Given the description of an element on the screen output the (x, y) to click on. 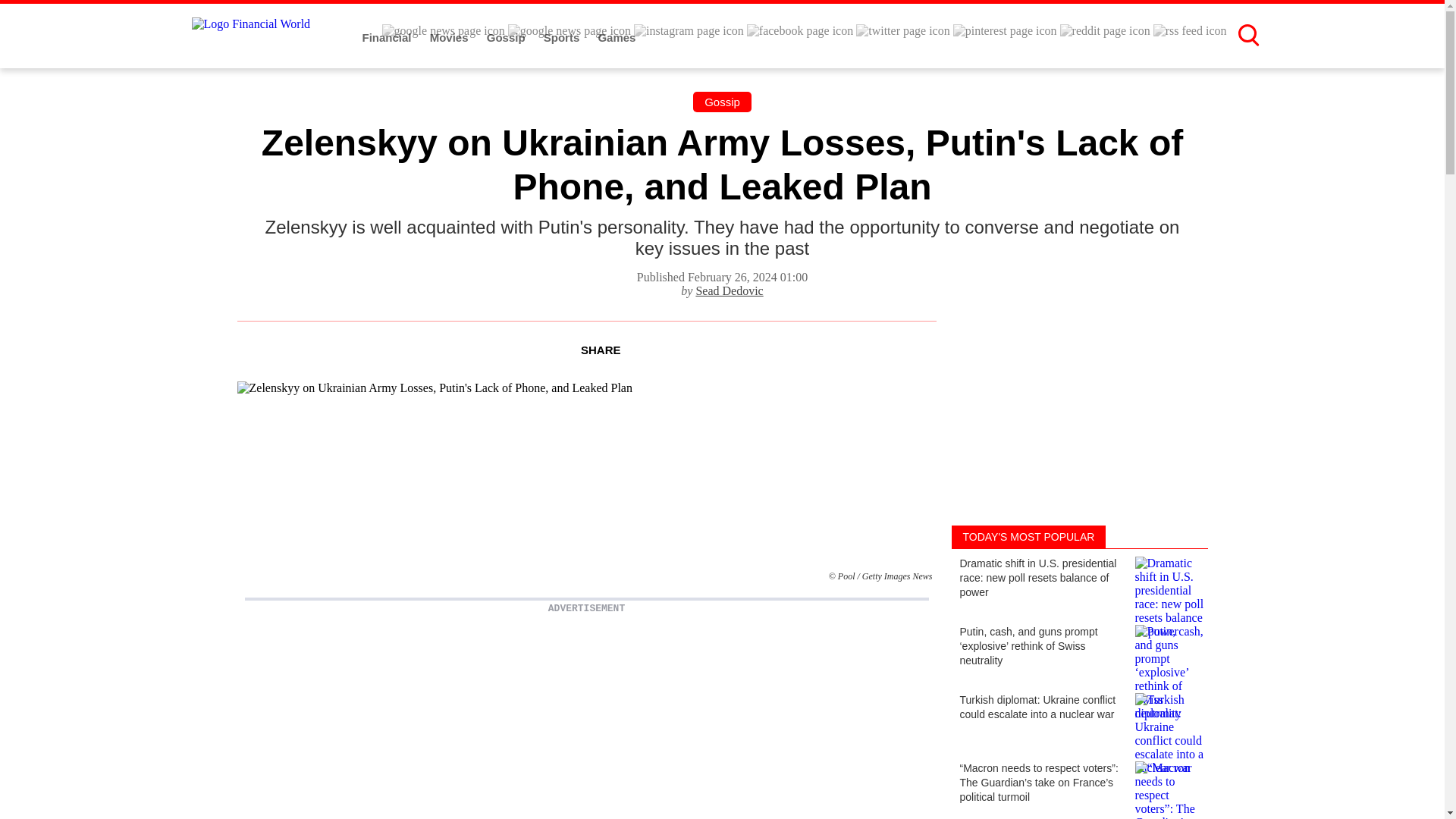
Games (615, 37)
Sports (563, 37)
Gossip (507, 37)
Movies (450, 37)
Financial (388, 37)
Gossip (721, 101)
Sead Dedovic (728, 290)
